Given the description of an element on the screen output the (x, y) to click on. 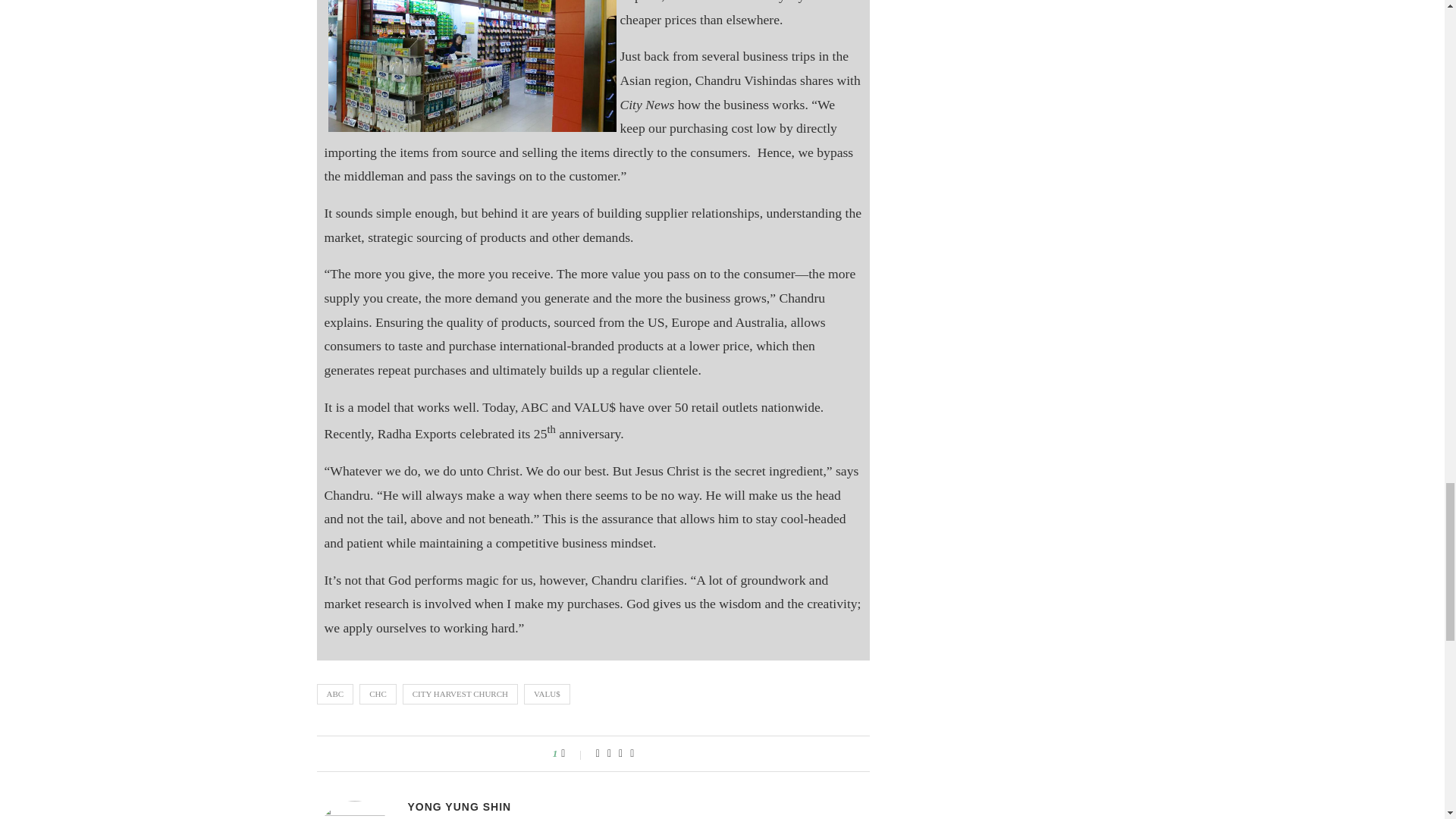
Like (572, 753)
Posts by Yong Yung Shin (459, 806)
